Given the description of an element on the screen output the (x, y) to click on. 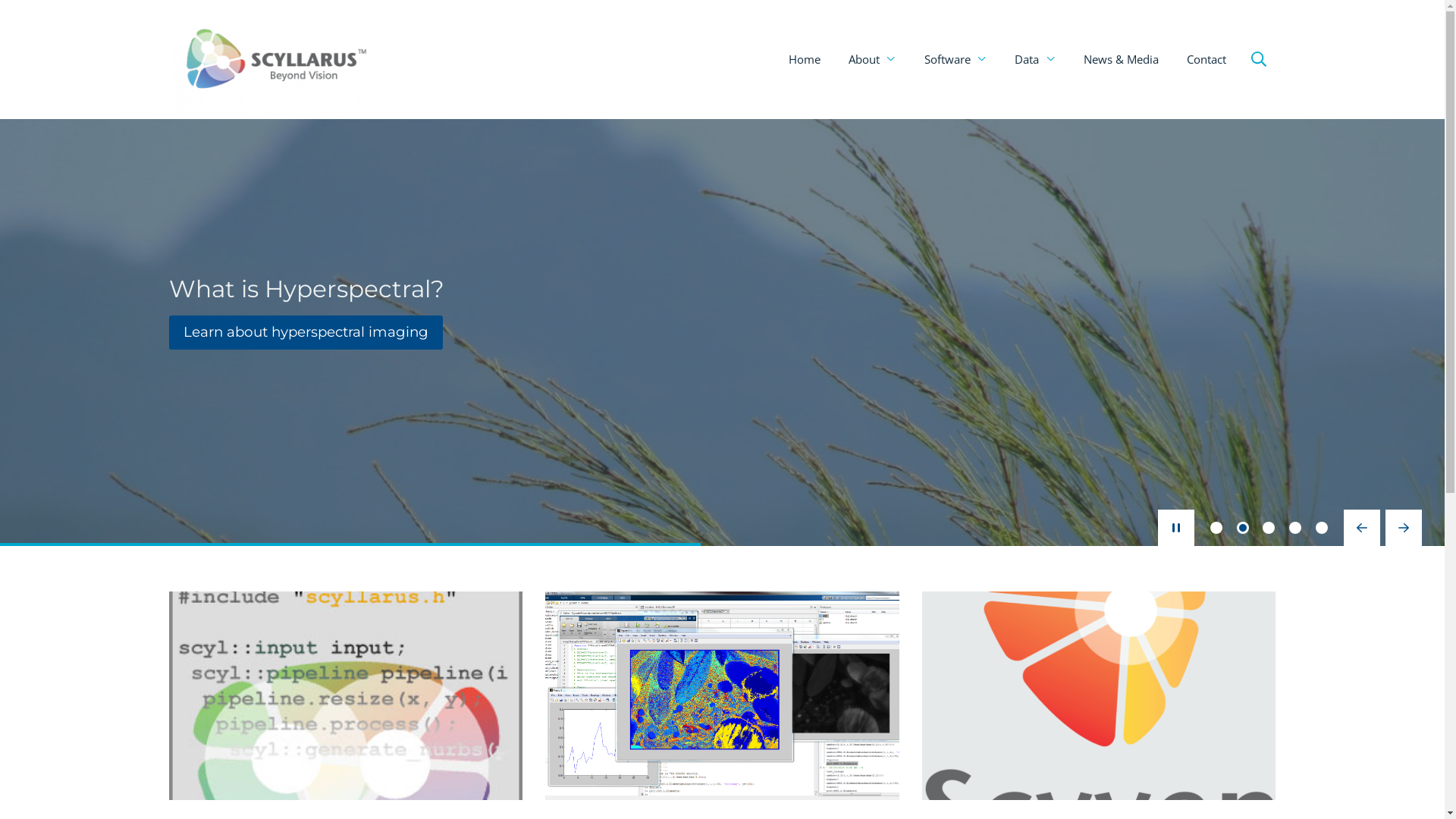
Data Element type: text (1034, 59)
About Element type: text (872, 59)
Contact Element type: text (1206, 59)
Learn about hyperspectral imaging Element type: text (305, 332)
News & Media Element type: text (1120, 59)
Home Element type: text (804, 59)
Software Element type: text (955, 59)
